Given the description of an element on the screen output the (x, y) to click on. 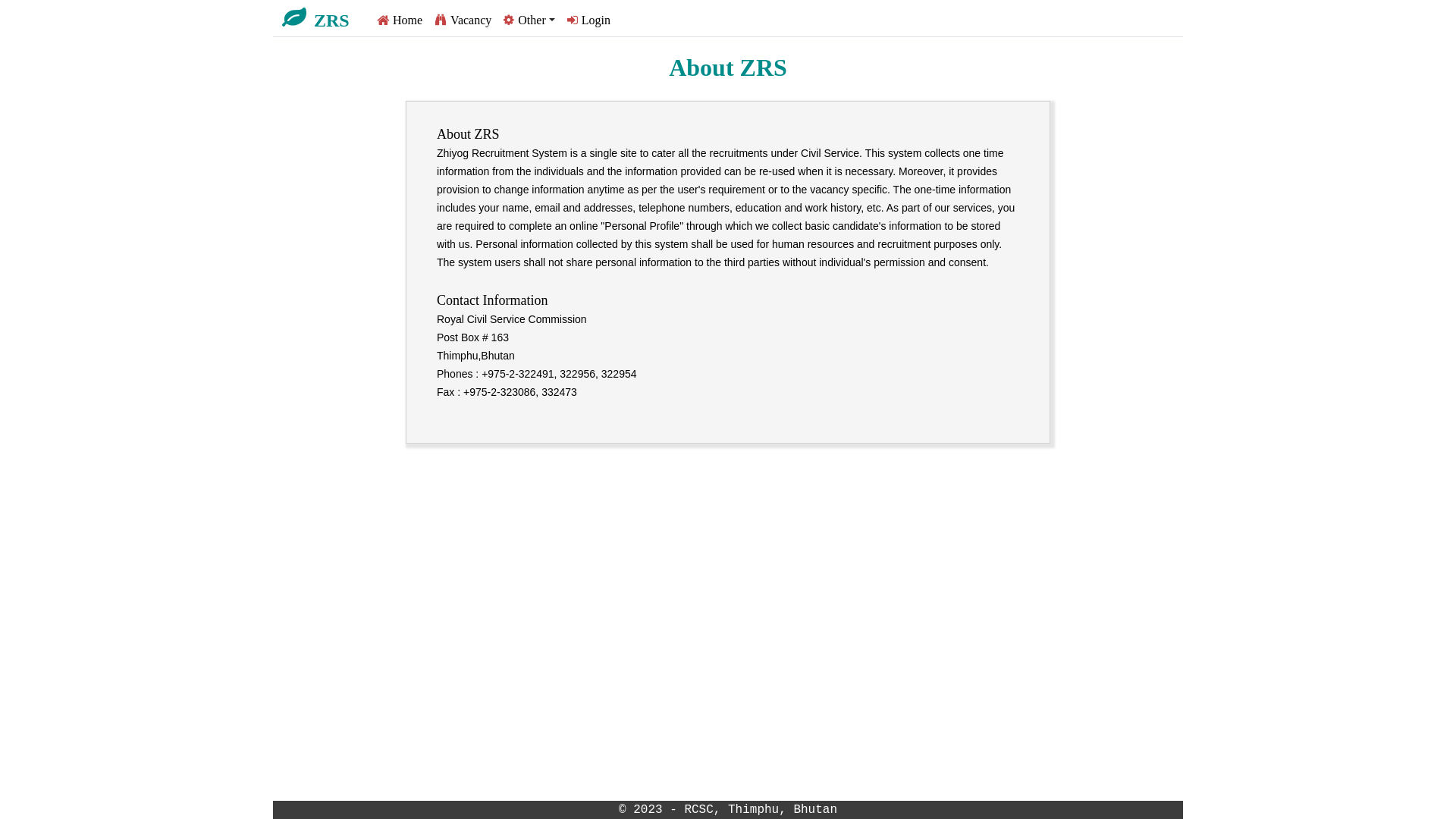
Login Element type: text (588, 20)
Home Element type: text (399, 20)
ZRS Element type: text (323, 18)
Vacancy Element type: text (462, 20)
Other Element type: text (529, 20)
ZRS Element type: text (331, 20)
